Given the description of an element on the screen output the (x, y) to click on. 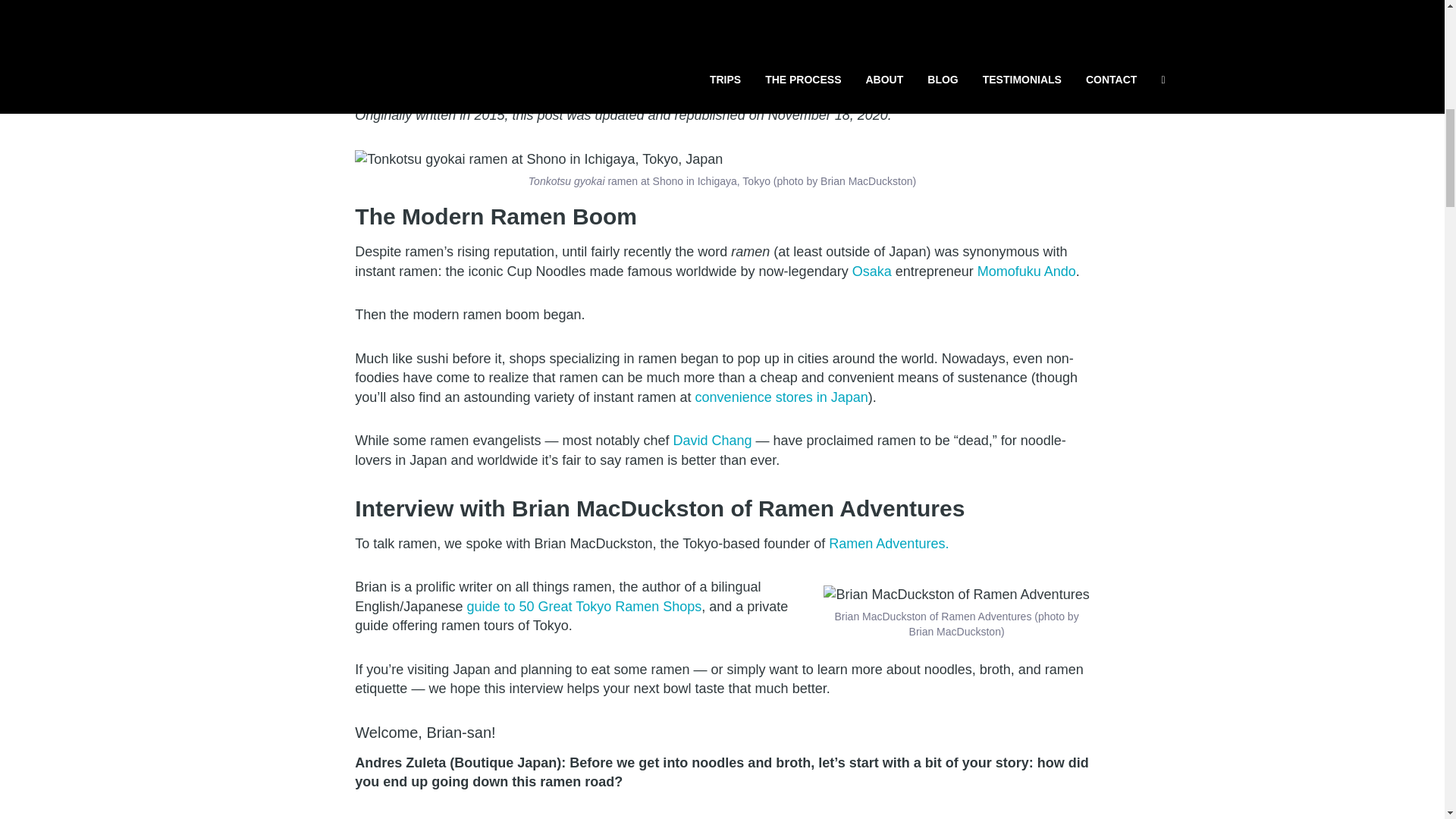
Ramen Adventures. (888, 543)
Momofuku Ando (1025, 271)
convenience stores in Japan (781, 396)
guide to 50 Great Tokyo Ramen Shops (583, 606)
David Chang (712, 440)
Osaka (871, 271)
